Given the description of an element on the screen output the (x, y) to click on. 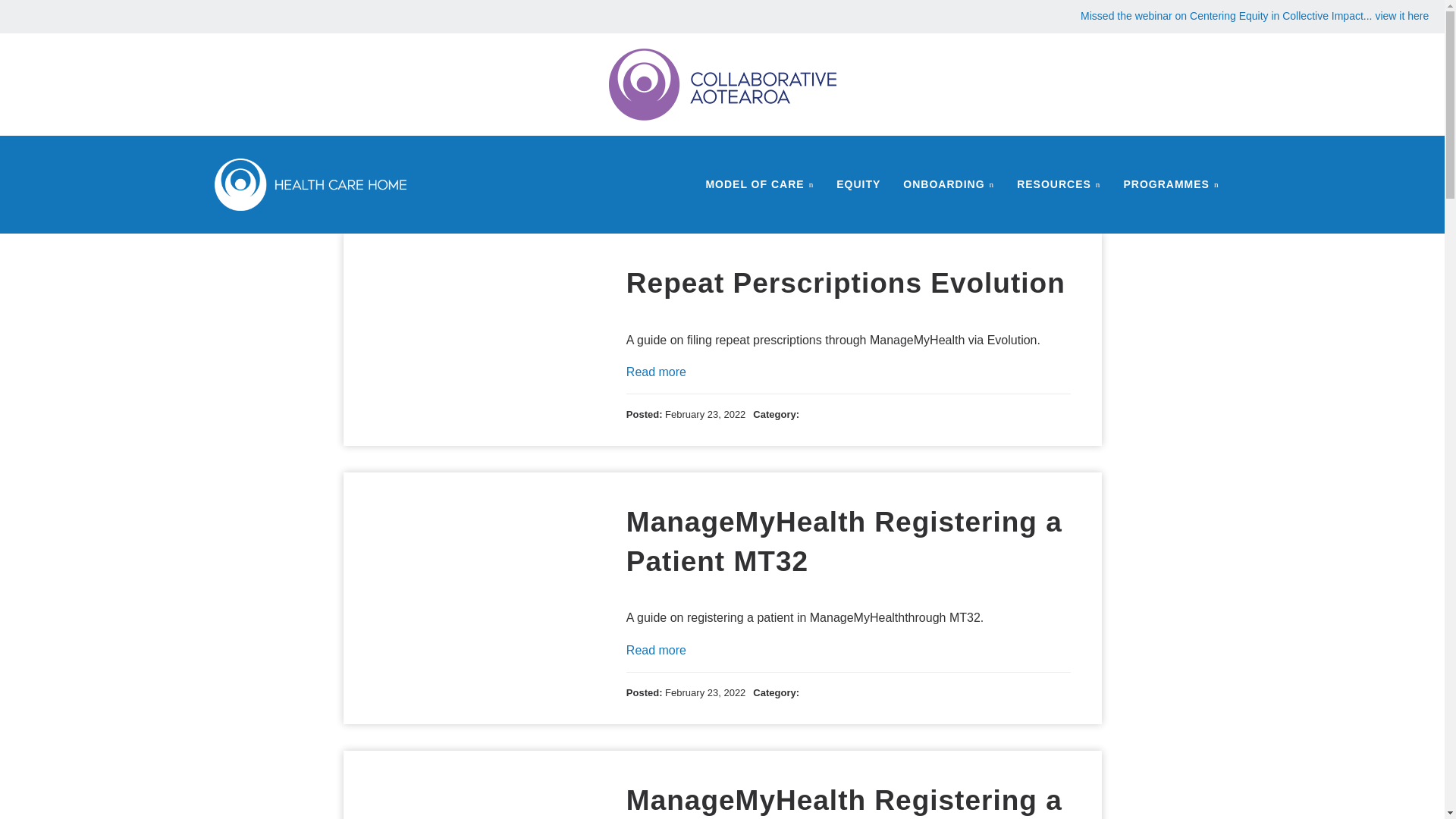
RESOURCES (1059, 184)
EQUITY (858, 184)
ONBOARDING (948, 184)
MODEL OF CARE (759, 184)
